Given the description of an element on the screen output the (x, y) to click on. 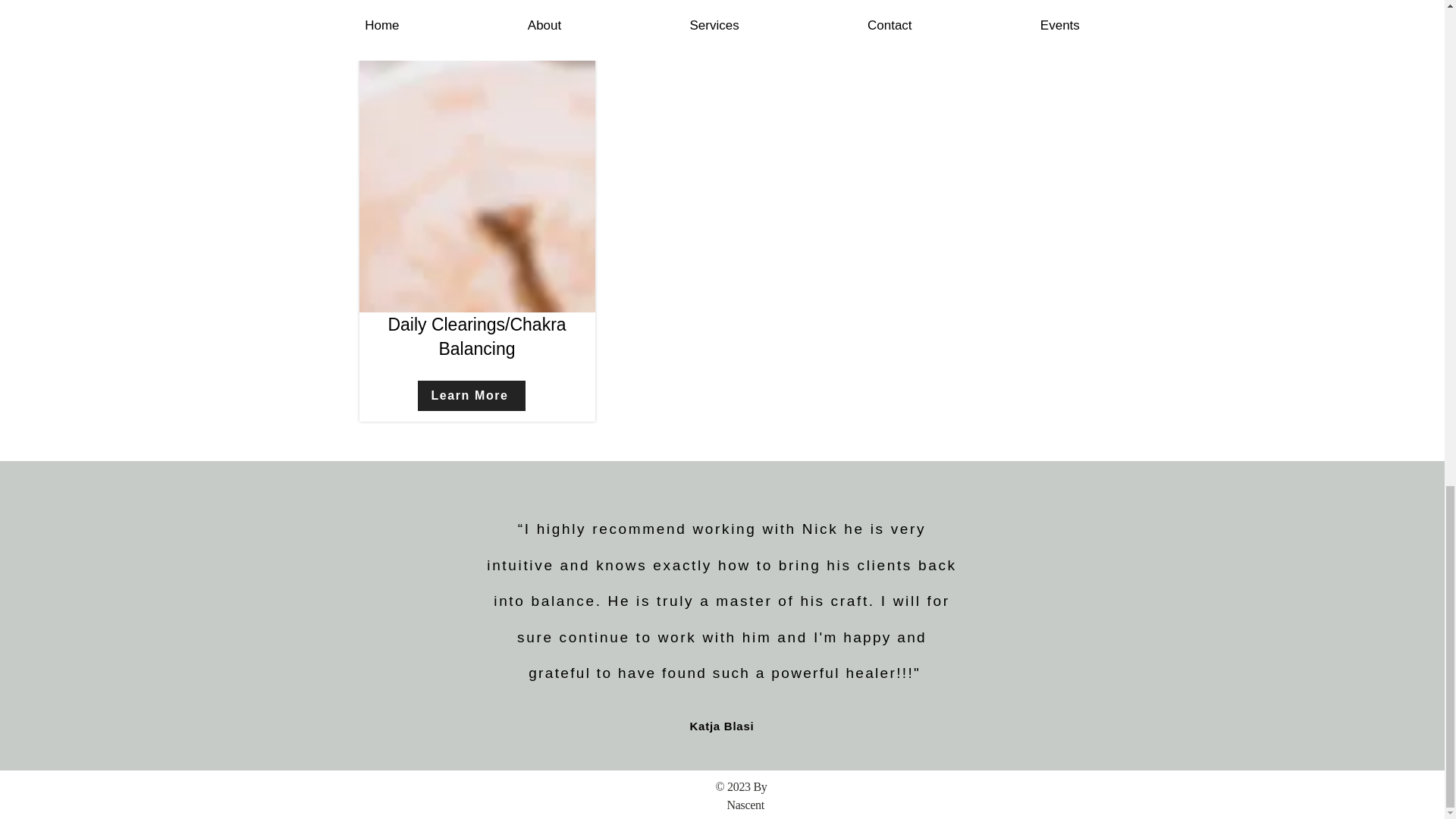
Learn More (716, 4)
Learn More (470, 4)
Learn More (960, 4)
Learn More (470, 395)
